Given the description of an element on the screen output the (x, y) to click on. 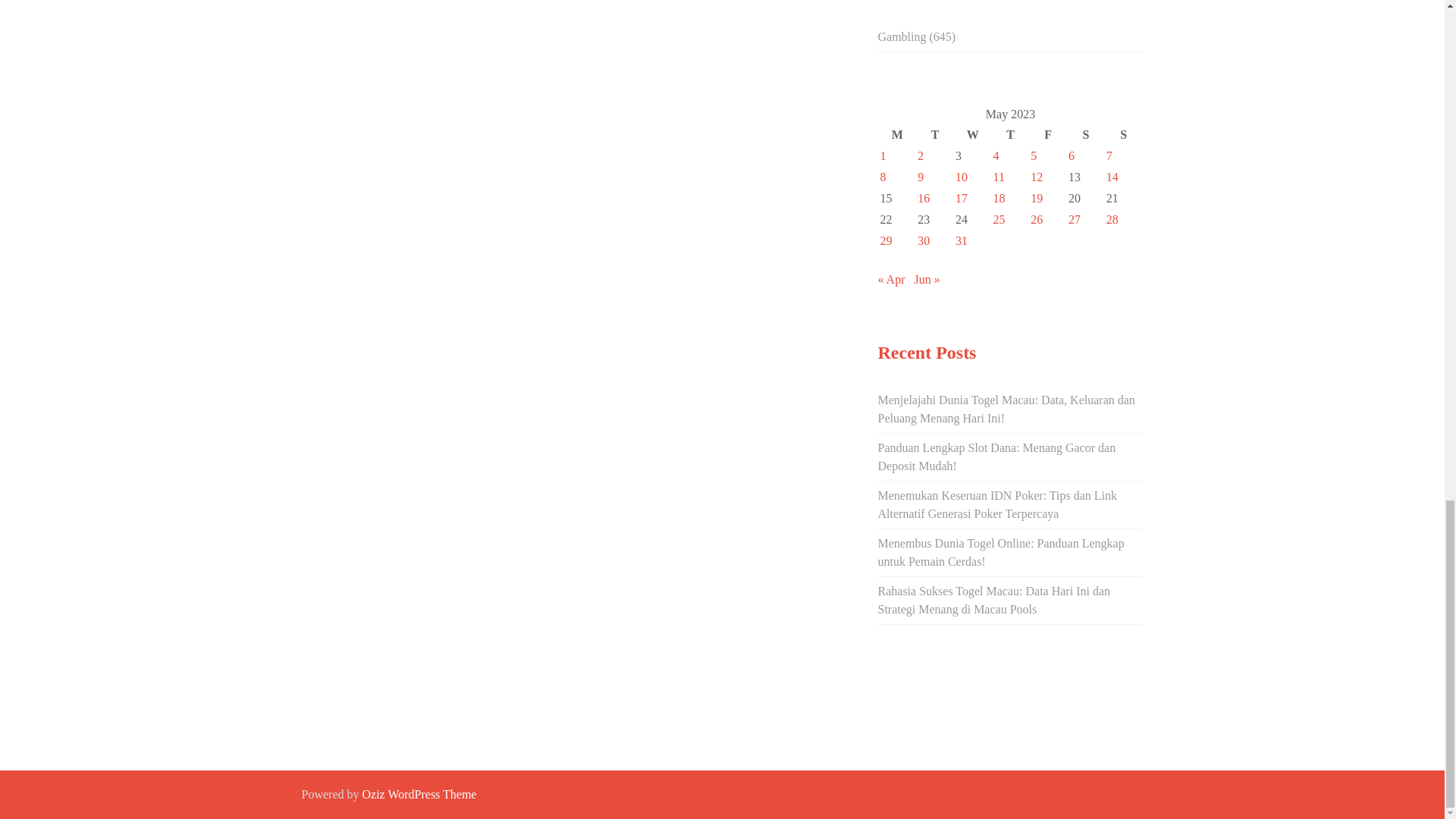
Monday (897, 134)
Saturday (1085, 134)
Sunday (1123, 134)
Gambling (901, 36)
Thursday (1010, 134)
Wednesday (973, 134)
Friday (1047, 134)
Tuesday (935, 134)
